Given the description of an element on the screen output the (x, y) to click on. 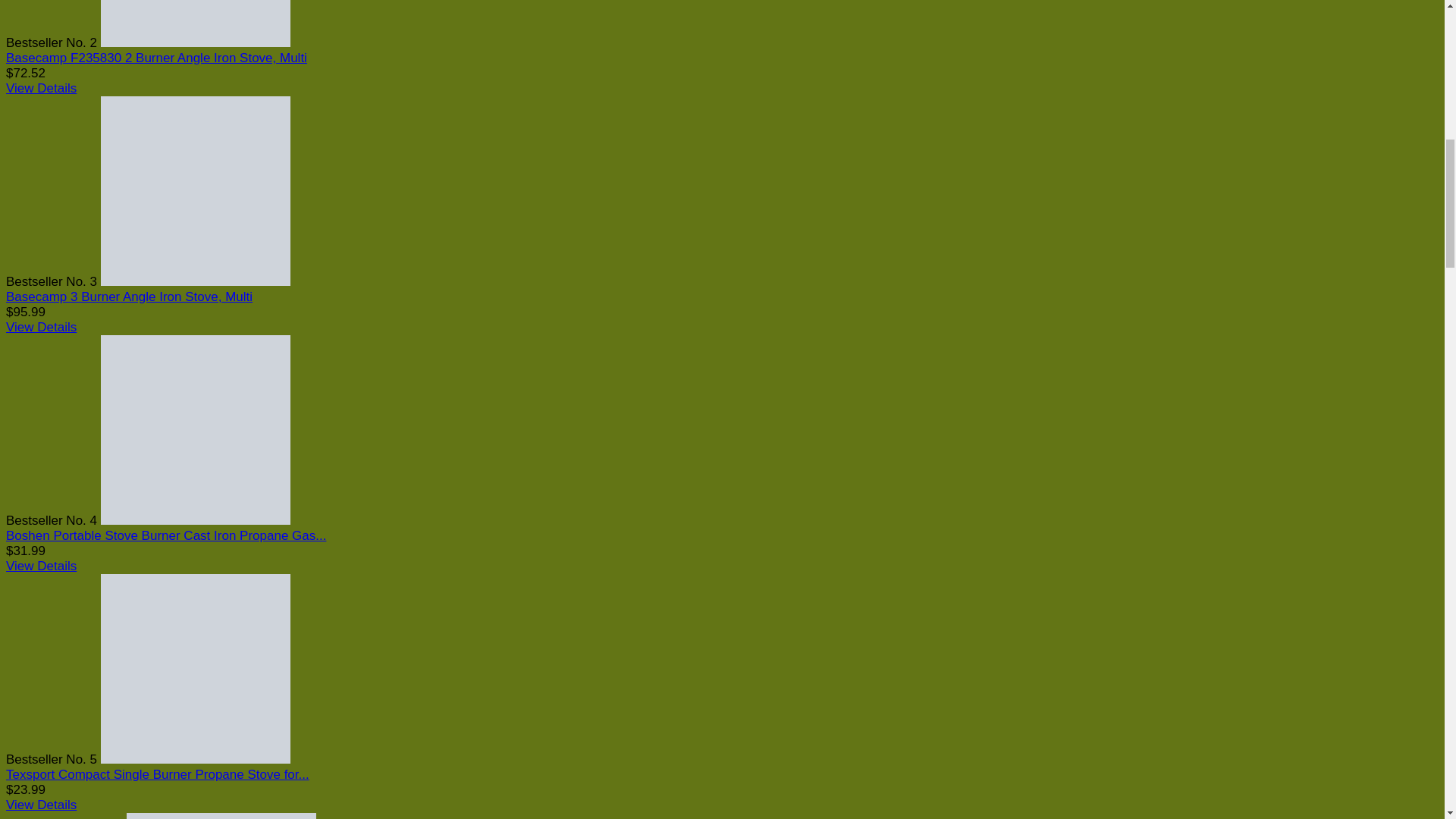
Basecamp F235830 2 Burner Angle Iron Stove, Multi (156, 57)
View Details (41, 565)
Texsport Compact Single Burner Propane Stove for... (156, 774)
View Details (41, 804)
Basecamp F235830 2 Burner Angle Iron Stove, Multi (156, 57)
Basecamp 3 Burner Angle Iron Stove, Multi (128, 296)
Basecamp 3 Burner Angle Iron Stove, Multi (128, 296)
Basecamp F235830 2 Burner Angle Iron Stove, Multi (194, 42)
View Details (41, 327)
View Details (41, 327)
Basecamp 3 Burner Angle Iron Stove, Multi (194, 281)
Boshen Portable Stove Burner Cast Iron Propane Gas... (165, 535)
